Given the description of an element on the screen output the (x, y) to click on. 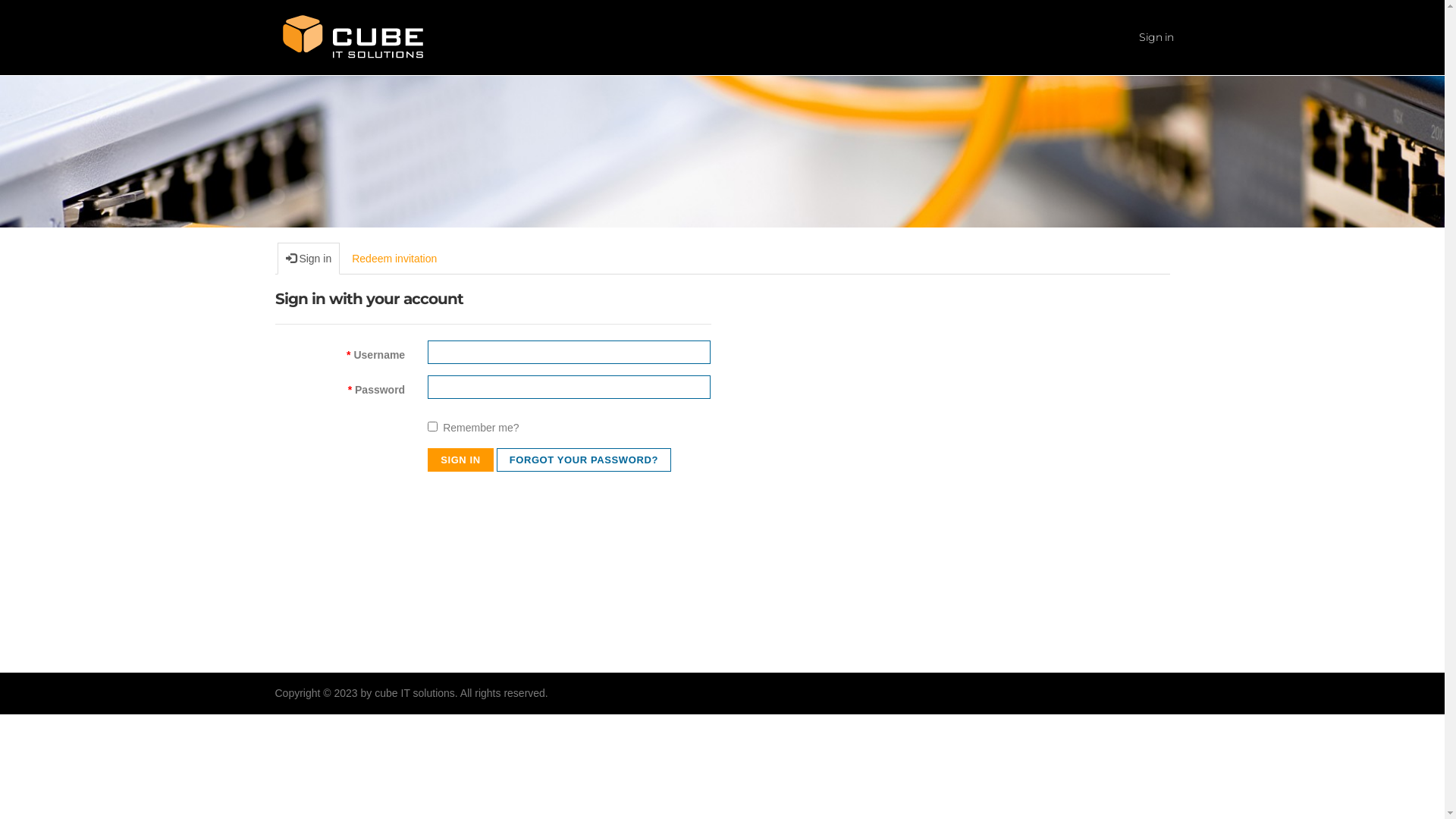
SIGN IN Element type: text (460, 459)
FORGOT YOUR PASSWORD? Element type: text (583, 459)
Sign in Element type: text (1156, 37)
Redeem invitation Element type: text (394, 258)
Site logo Element type: hover (353, 36)
Sign in Element type: text (308, 258)
